Given the description of an element on the screen output the (x, y) to click on. 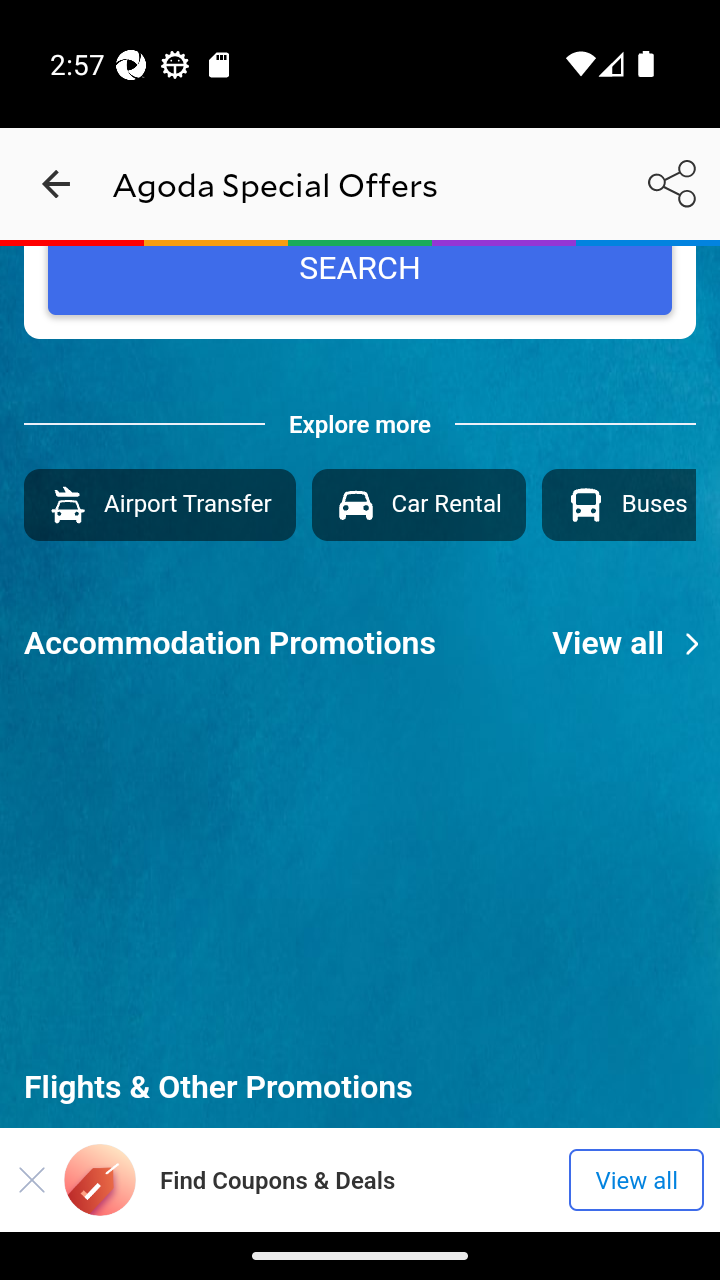
navigation_button (56, 184)
Share (672, 183)
SEARCH (359, 280)
Airport Transfer (159, 504)
Car Rental (418, 504)
Buses (618, 504)
View all (636, 643)
